Given the description of an element on the screen output the (x, y) to click on. 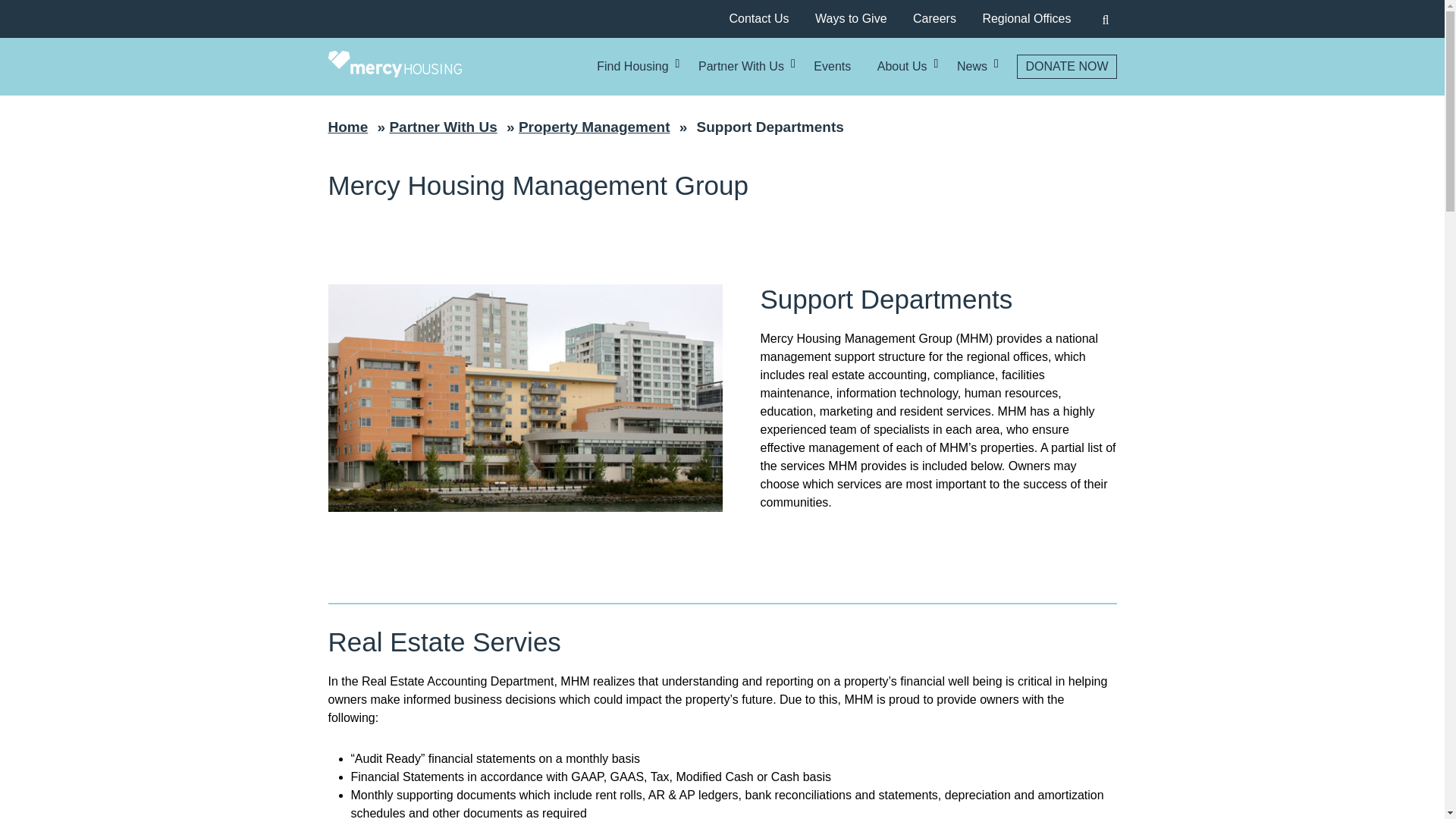
Partner With Us (741, 66)
Careers (934, 18)
About Us (902, 66)
Events (831, 66)
Ways to Give (850, 18)
Find Housing (632, 66)
Regional Offices (1025, 18)
Contact Us (759, 18)
